Given the description of an element on the screen output the (x, y) to click on. 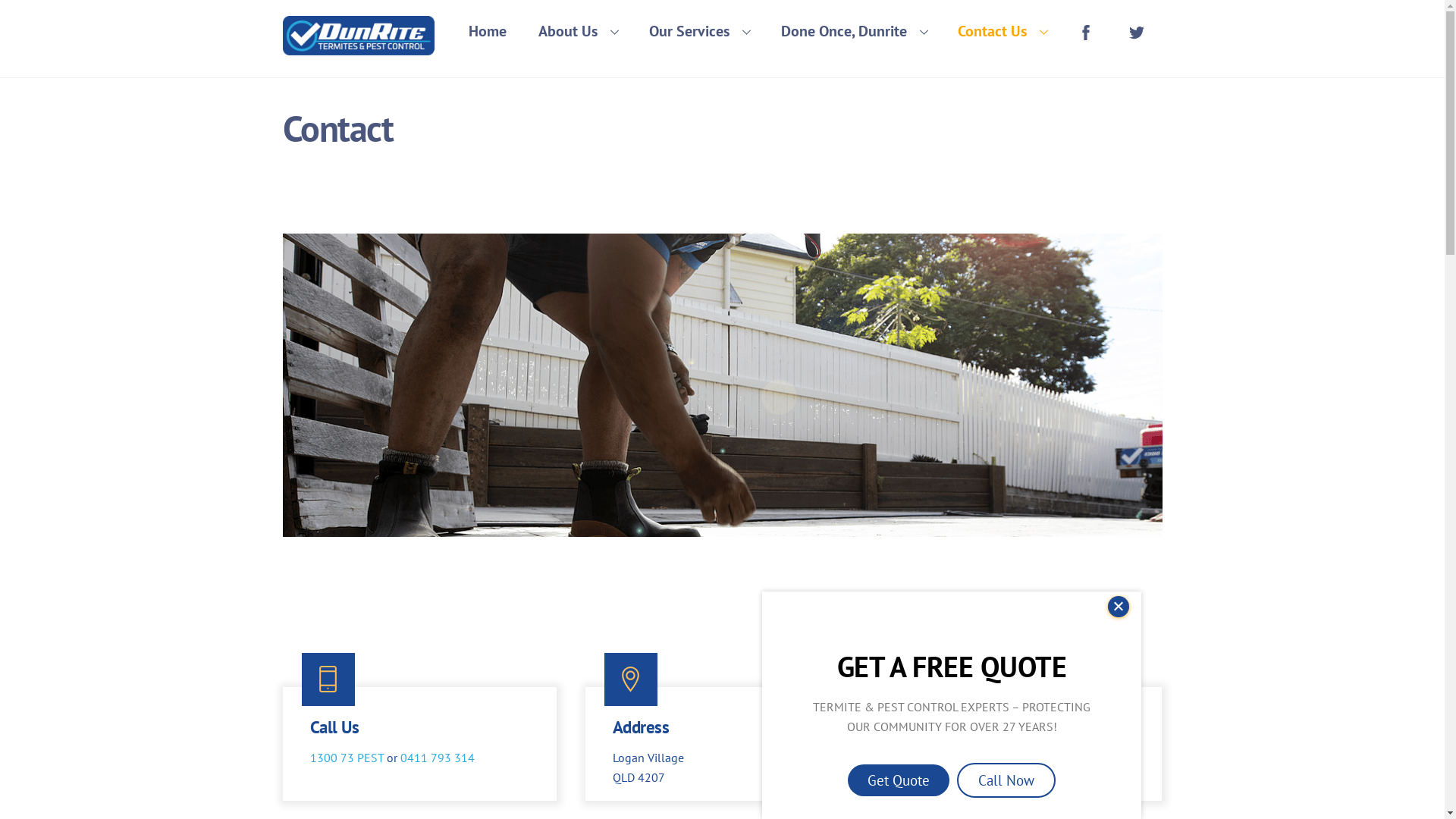
info@dunrite.com.au Element type: text (970, 757)
1300 73 PEST Element type: text (346, 757)
Get Quote Element type: text (898, 779)
About Us Element type: text (577, 31)
Our Services Element type: text (698, 31)
Dunrite Termites & Pest Control Element type: hover (357, 44)
Call Now Element type: text (1006, 779)
0411 793 314 Element type: text (437, 757)
Done Once, Dunrite Element type: text (853, 31)
Home Element type: text (488, 31)
Contact Us Element type: text (1002, 31)
Dunrite Logo Element type: hover (357, 35)
x Element type: text (1118, 606)
Dunrite Dan Plugging Barrier Dunrite Termites Pest Control Element type: hover (721, 384)
